Given the description of an element on the screen output the (x, y) to click on. 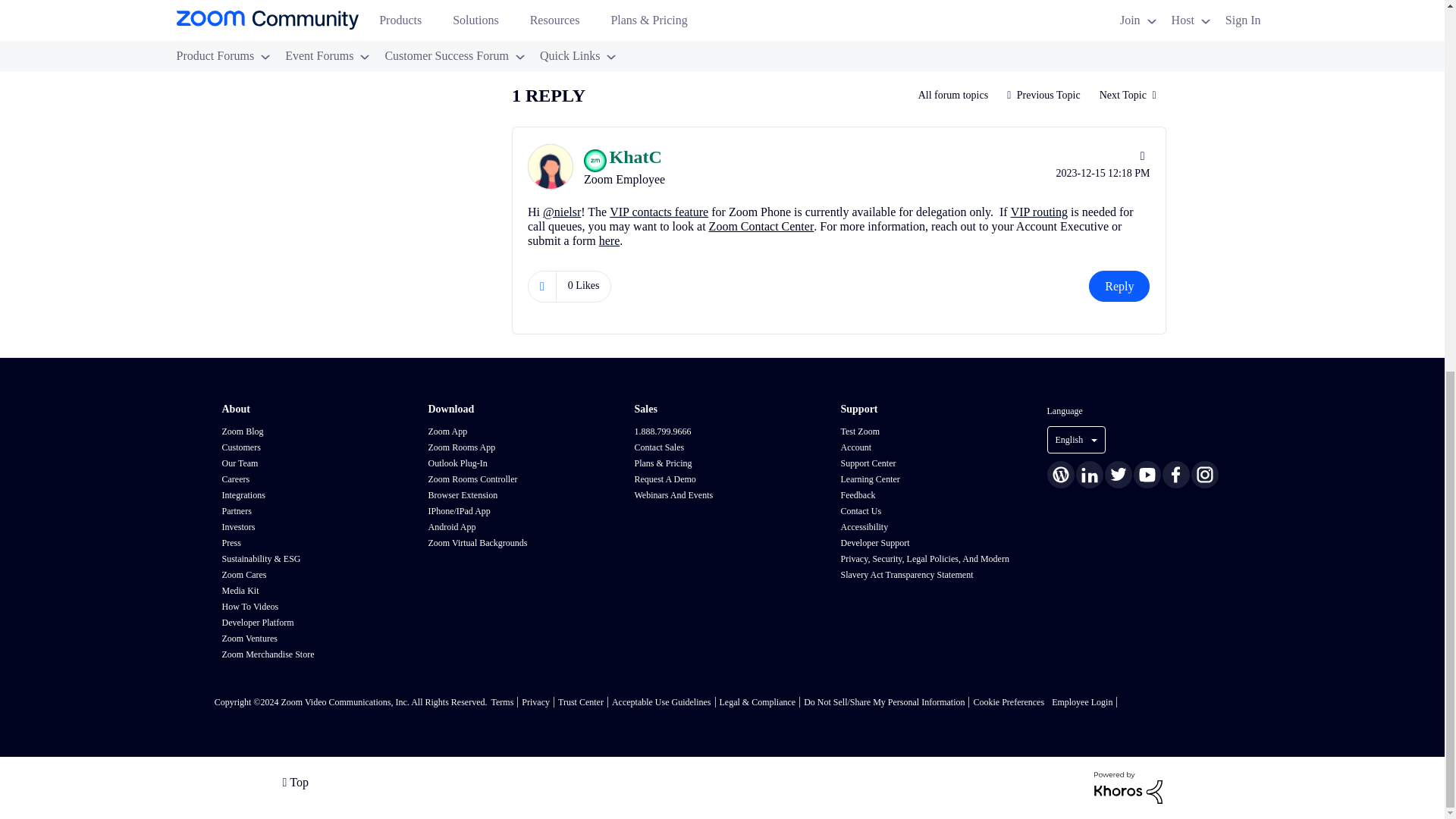
Top (294, 781)
Zoom Employee (595, 160)
Manager access to call logs (1043, 95)
Top (294, 781)
Option to Print or Save SMS Messages (1127, 95)
Click here to give likes to this post. (542, 15)
The total number of likes this post has received. (583, 285)
Zoom Phone System (953, 95)
KhatC (550, 166)
The total number of likes this post has received. (583, 14)
